Given the description of an element on the screen output the (x, y) to click on. 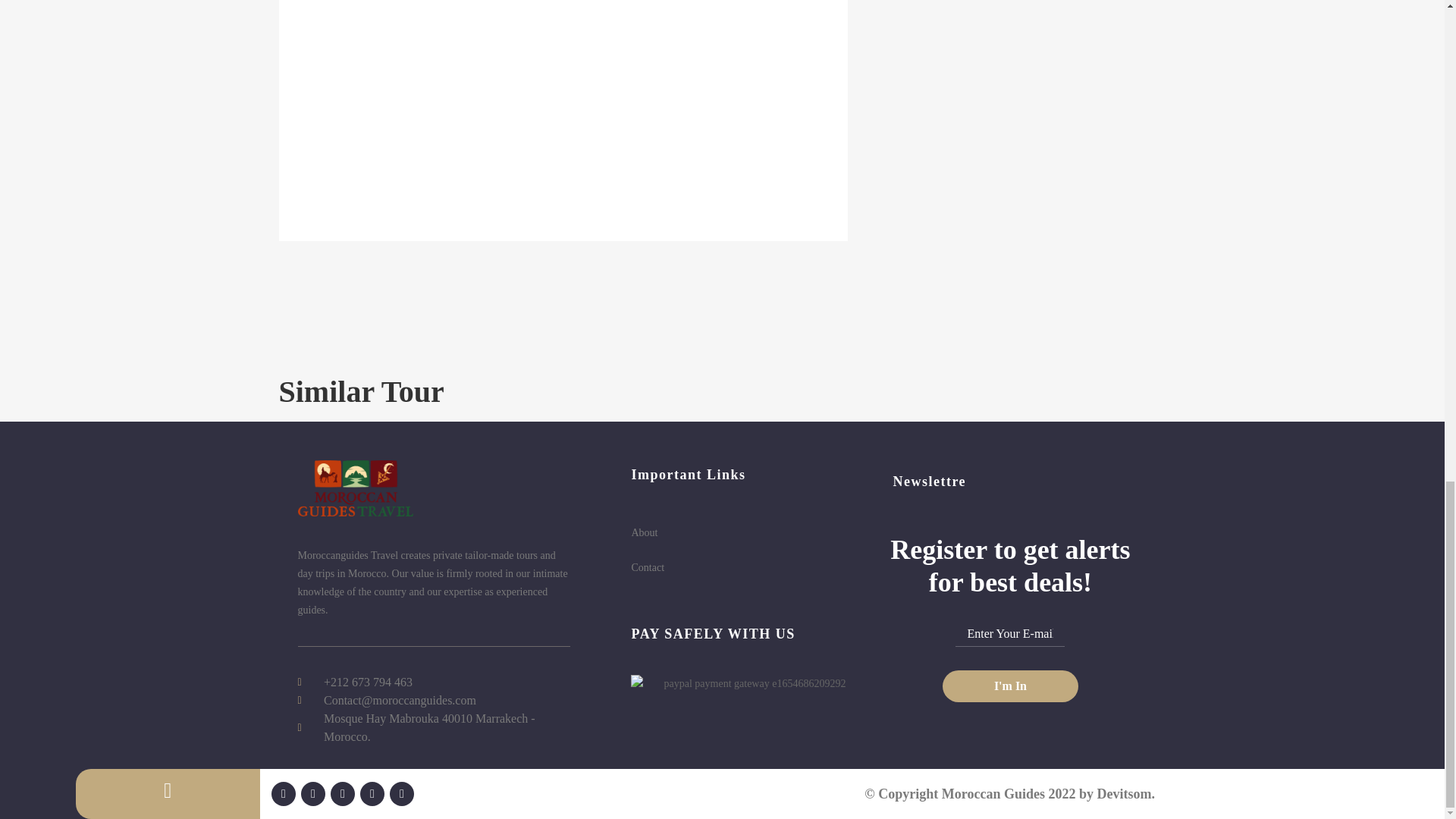
I'm In (1010, 685)
